Given the description of an element on the screen output the (x, y) to click on. 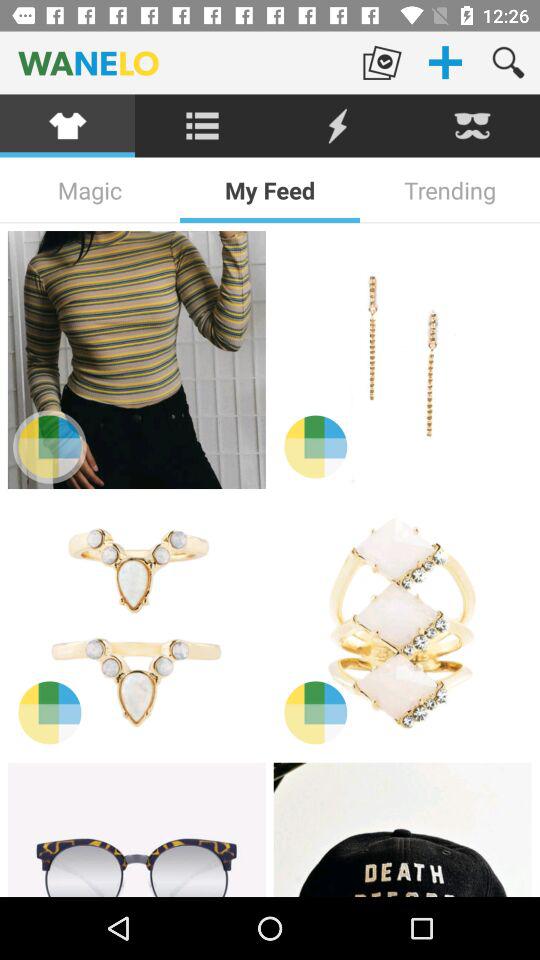
cloth section (67, 125)
